Given the description of an element on the screen output the (x, y) to click on. 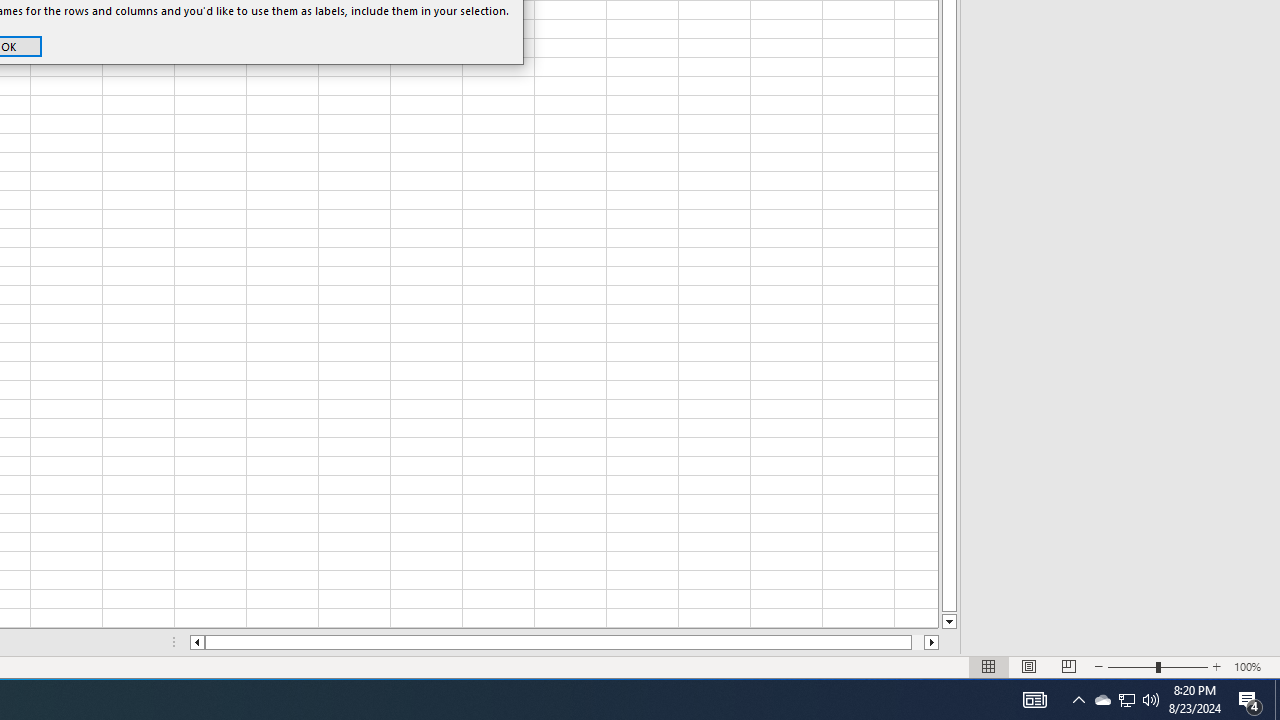
Column left (196, 642)
Page right (917, 642)
Action Center, 4 new notifications (1250, 699)
Show desktop (1277, 699)
Class: NetUIScrollBar (564, 642)
